Given the description of an element on the screen output the (x, y) to click on. 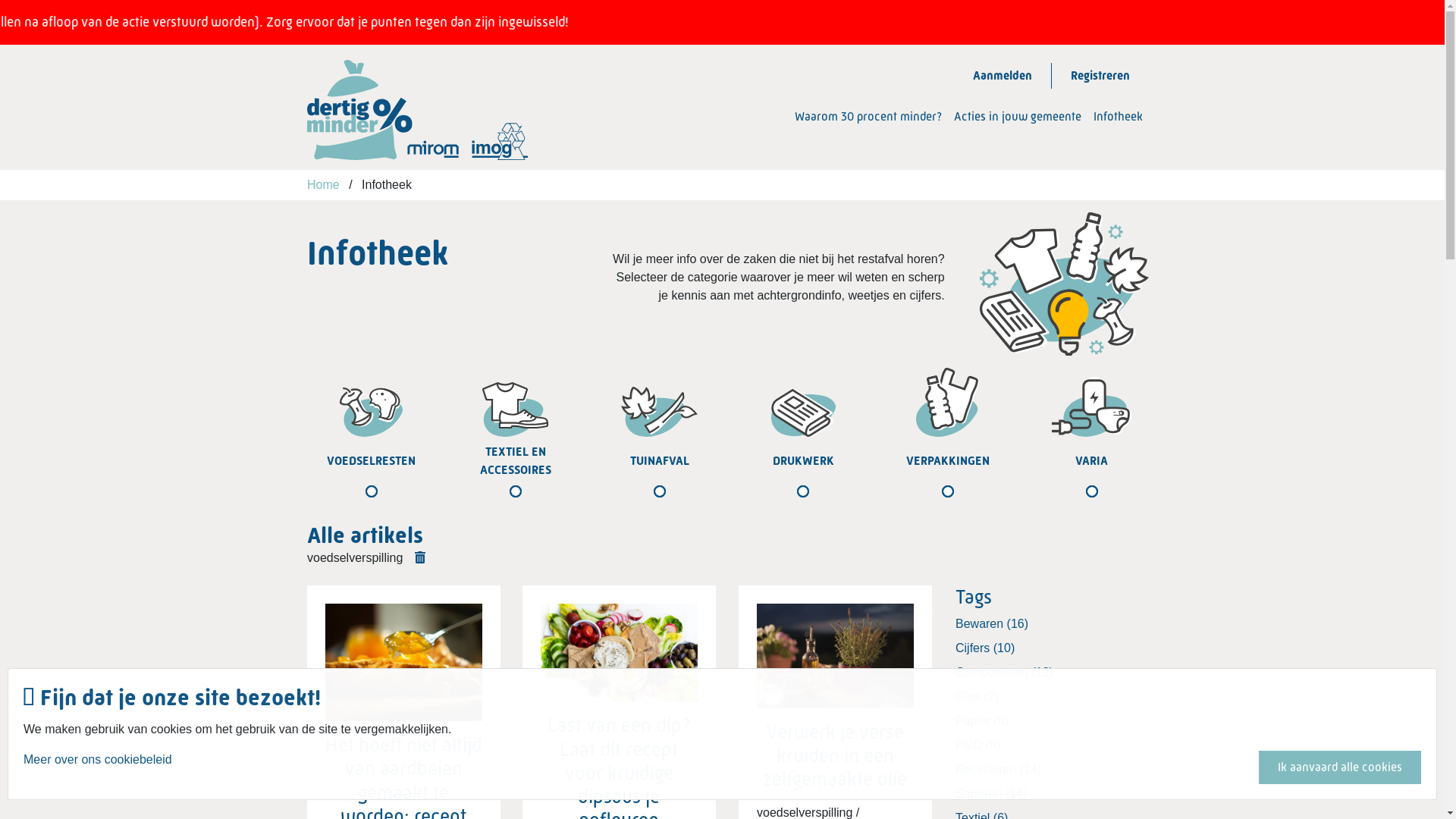
Sorteren (14) Element type: text (1051, 793)
Acties in jouw gemeente Element type: text (1017, 116)
Registreren Element type: text (1099, 75)
Bewaren (16) Element type: text (1051, 624)
Meer over ons cookiebeleid Element type: text (97, 767)
Recycleren (14) Element type: text (1051, 769)
2 Element type: text (445, 477)
Composteren (12) Element type: text (1051, 672)
6 Element type: text (1022, 477)
3 Element type: text (589, 477)
Waarom 30 procent minder? Element type: text (867, 116)
Glas (2) Element type: text (1051, 696)
5 Element type: text (878, 477)
Aanmelden Element type: text (1002, 75)
Papier (6) Element type: text (1051, 721)
4 Element type: text (734, 477)
Ik aanvaard alle cookies Element type: text (1339, 767)
1 Element type: text (301, 477)
Home Element type: text (323, 184)
PMD (6) Element type: text (1051, 745)
Infotheek Element type: text (1117, 116)
Cijfers (10) Element type: text (1051, 648)
